Given the description of an element on the screen output the (x, y) to click on. 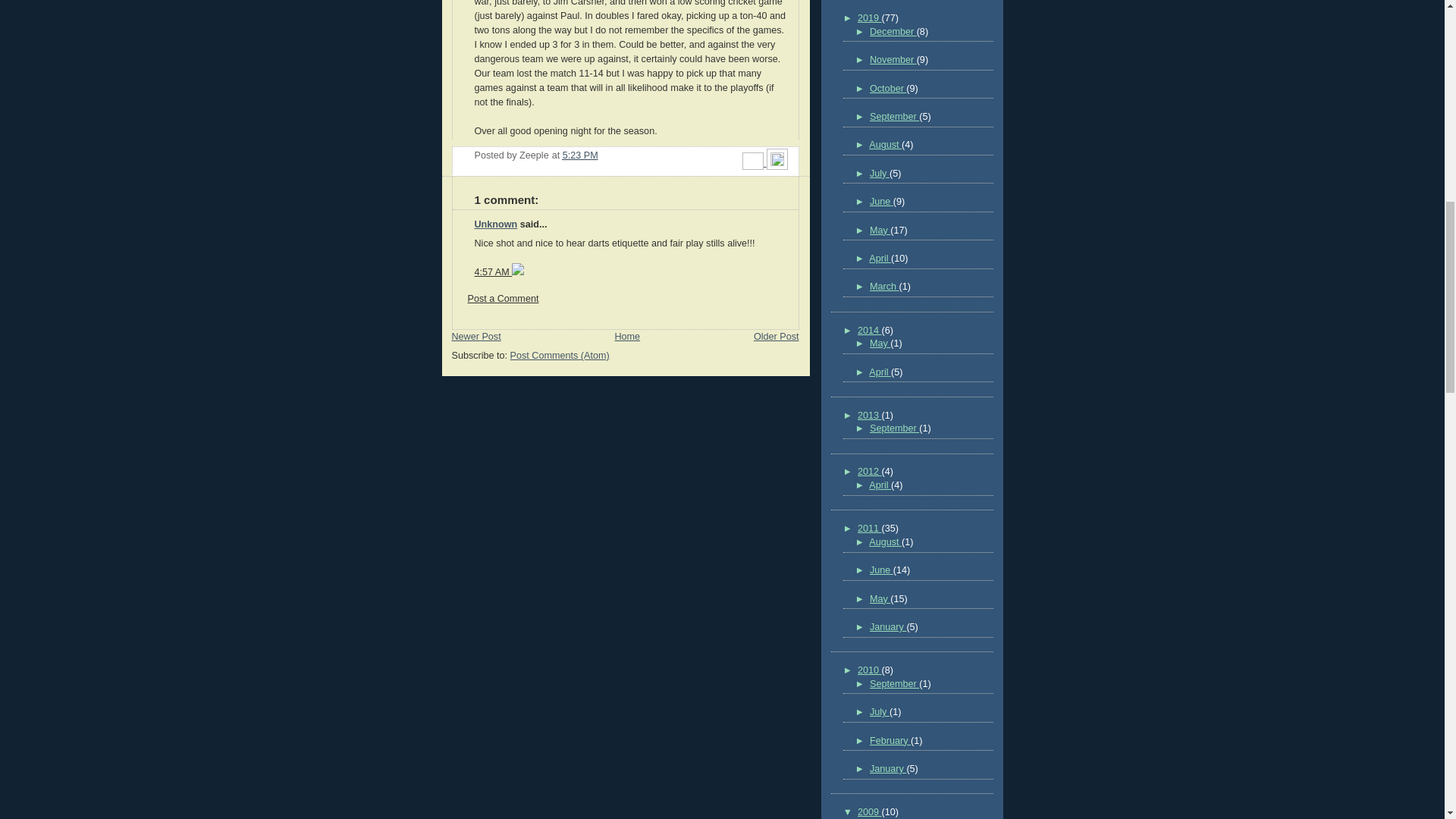
5:23 PM (580, 154)
comment permalink (493, 271)
Older Post (776, 336)
permanent link (580, 154)
Email Post (754, 163)
4:57 AM (493, 271)
Post a Comment (502, 298)
Unknown (496, 224)
Newer Post (475, 336)
Newer Post (475, 336)
Delete Comment (518, 271)
Older Post (776, 336)
Home (627, 336)
Edit Post (776, 163)
